Given the description of an element on the screen output the (x, y) to click on. 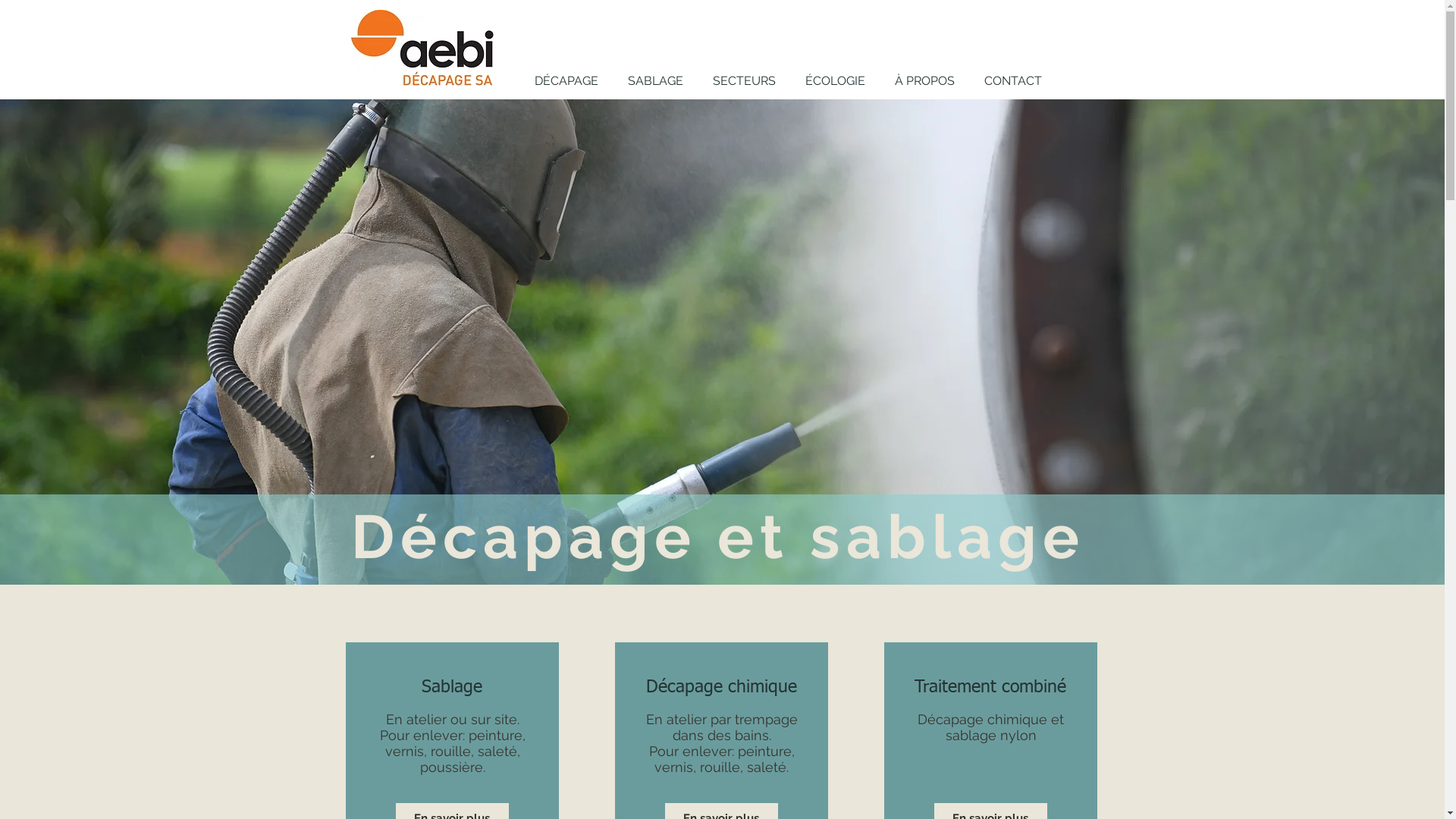
SABLAGE Element type: text (654, 81)
CONTACT Element type: text (1012, 81)
SECTEURS Element type: text (743, 81)
Accueil Element type: hover (426, 47)
